Given the description of an element on the screen output the (x, y) to click on. 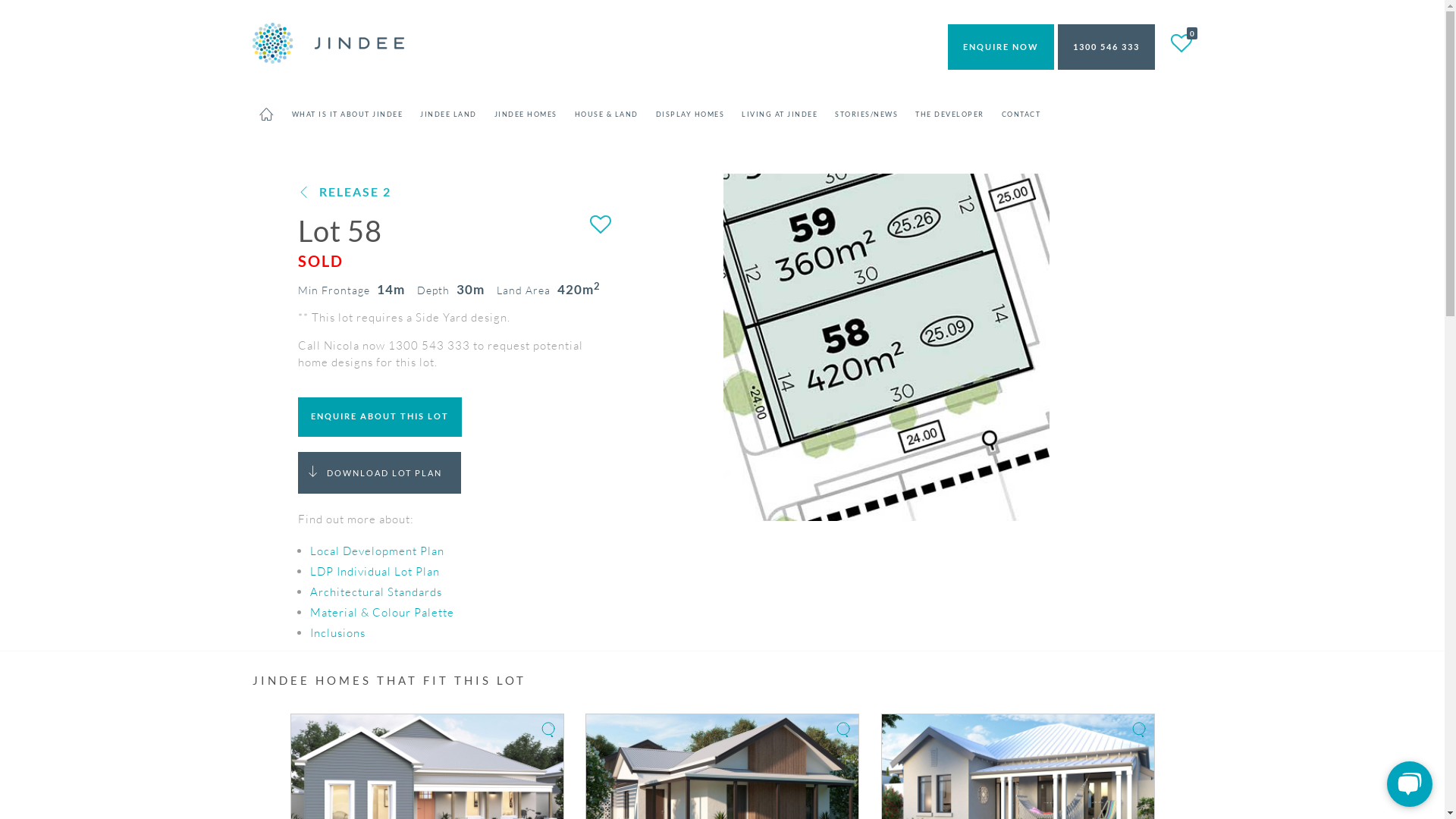
JINDEE LAND Element type: text (447, 114)
JINDEE HOMES Element type: text (525, 114)
CONTACT Element type: text (1021, 114)
Local Development Plan Element type: text (376, 550)
0 Element type: text (1180, 43)
Inclusions Element type: text (336, 632)
WHAT IS IT ABOUT JINDEE Element type: text (347, 114)
1300 546 333 Element type: text (1105, 46)
THE DEVELOPER Element type: text (949, 114)
LIVING AT JINDEE Element type: text (779, 114)
LDP Individual Lot Plan Element type: text (374, 571)
DOWNLOAD LOT PLAN Element type: text (378, 472)
DISPLAY HOMES Element type: text (689, 114)
STORIES/NEWS Element type: text (866, 114)
ENQUIRE ABOUT THIS LOT Element type: text (379, 416)
ENQUIRE NOW Element type: text (1000, 46)
HOUSE & LAND Element type: text (606, 114)
JINDEE Element type: text (327, 42)
Material & Colour Palette Element type: text (381, 612)
Architectural Standards Element type: text (375, 591)
RELEASE 2 Element type: text (343, 191)
